Given the description of an element on the screen output the (x, y) to click on. 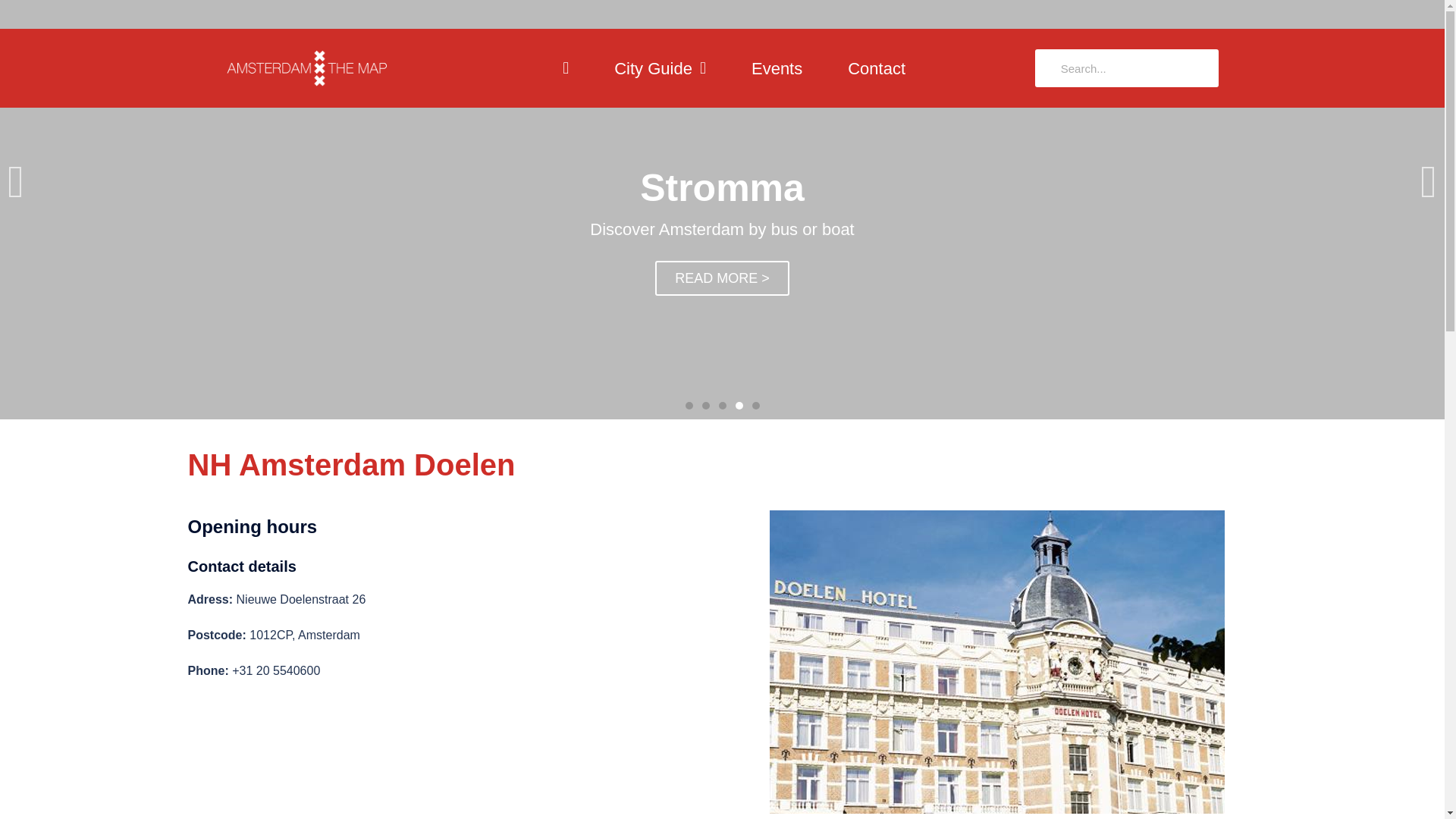
Search (1133, 67)
